Given the description of an element on the screen output the (x, y) to click on. 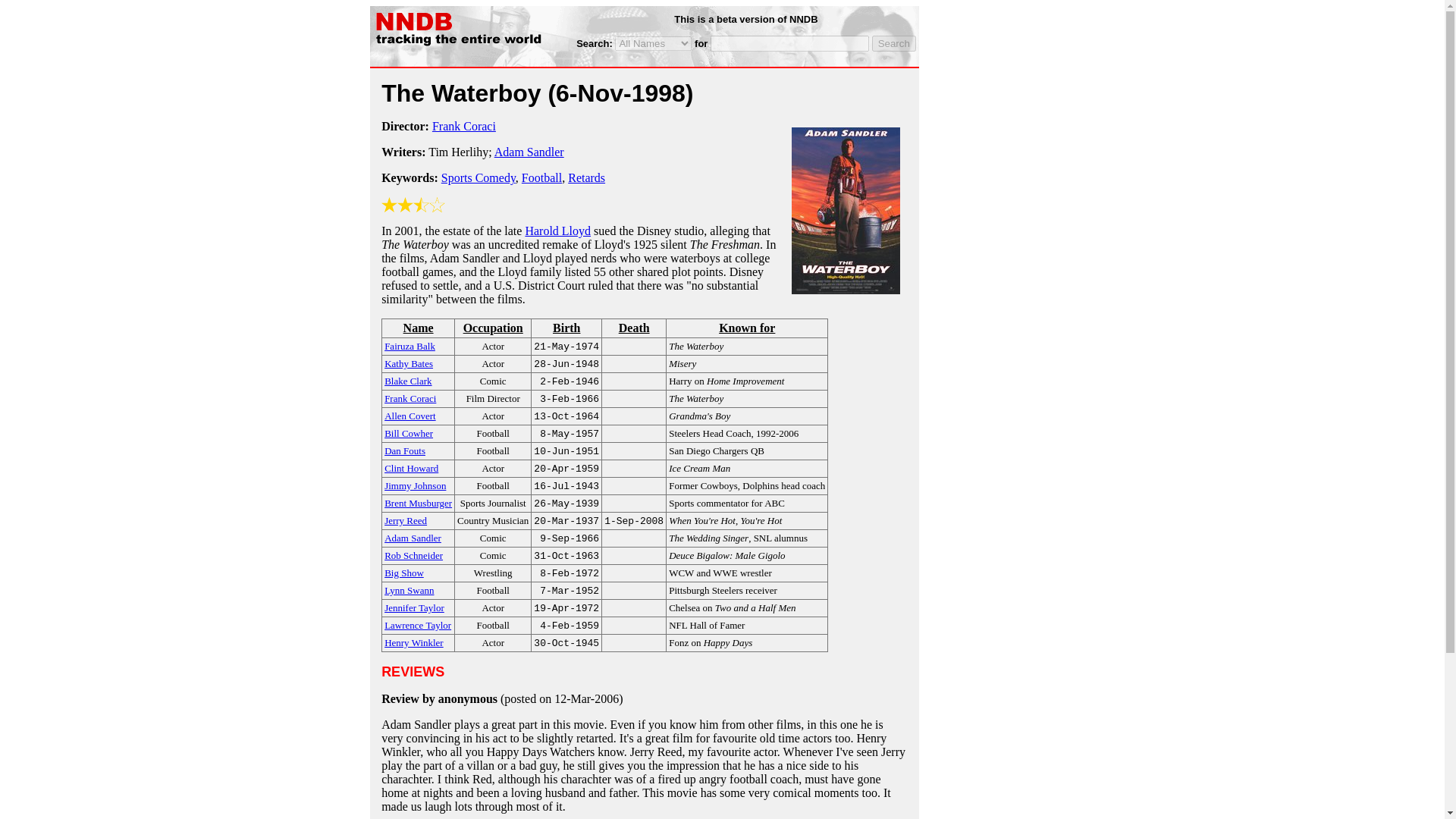
Allen Covert (409, 414)
Henry Winkler (414, 641)
Death (633, 327)
Lawrence Taylor (417, 624)
Lynn Swann (408, 589)
Dan Fouts (404, 449)
Occupation (492, 327)
Sports Comedy (478, 177)
Adam Sandler (529, 151)
Adam Sandler (412, 536)
